Given the description of an element on the screen output the (x, y) to click on. 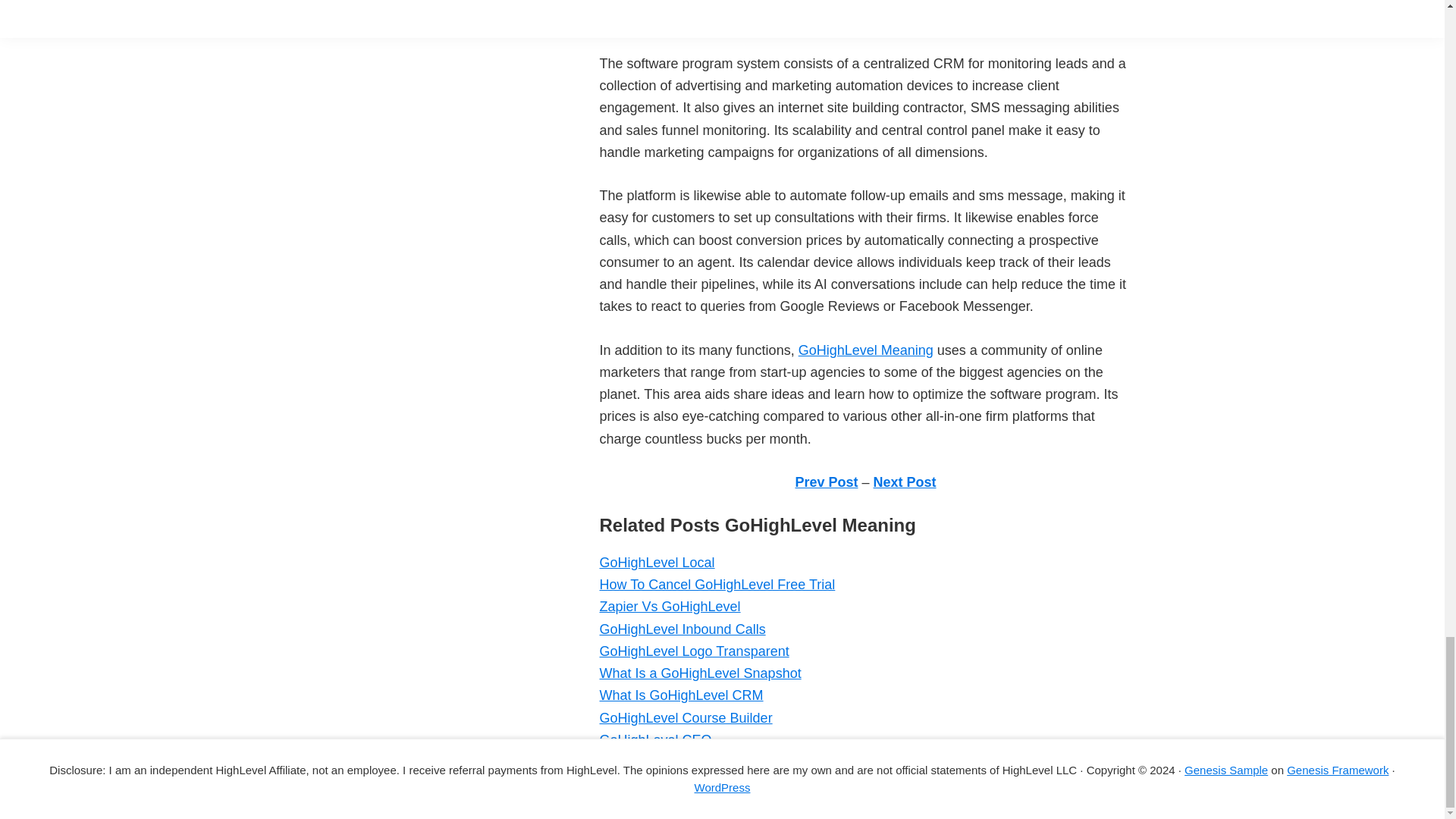
What Is GoHighLevel CRM (680, 694)
How To Cancel GoHighLevel Free Trial (716, 584)
GoHighLevel Inbound Calls (681, 629)
GoHighLevel CEO (654, 739)
What Is a GoHighLevel Snapshot (699, 672)
GoHighLevel Course Builder (684, 717)
What Is GoHighLevel CRM (680, 694)
Zapier Vs GoHighLevel (668, 606)
GoHighLevel Course Builder (684, 717)
GoHighLevel Logo Transparent (693, 651)
